Given the description of an element on the screen output the (x, y) to click on. 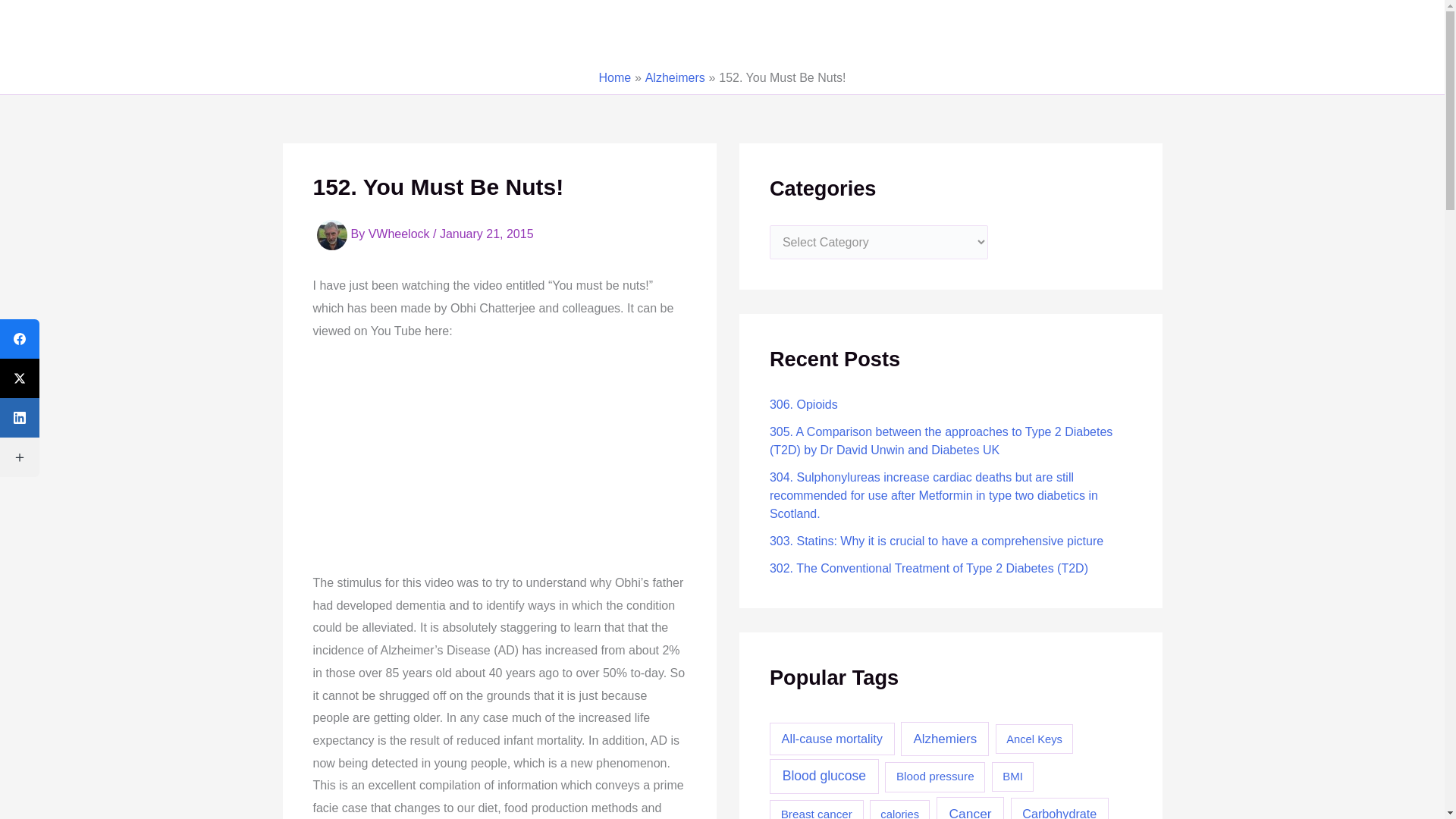
Healthy Eating Book Update (1326, 30)
Verners' Views (67, 30)
306. Opioids (804, 404)
Home (614, 77)
Contact (784, 31)
About (716, 31)
Home (655, 31)
Alzheimers (674, 77)
View all posts by VWheelock (400, 234)
VWheelock (400, 234)
